Given the description of an element on the screen output the (x, y) to click on. 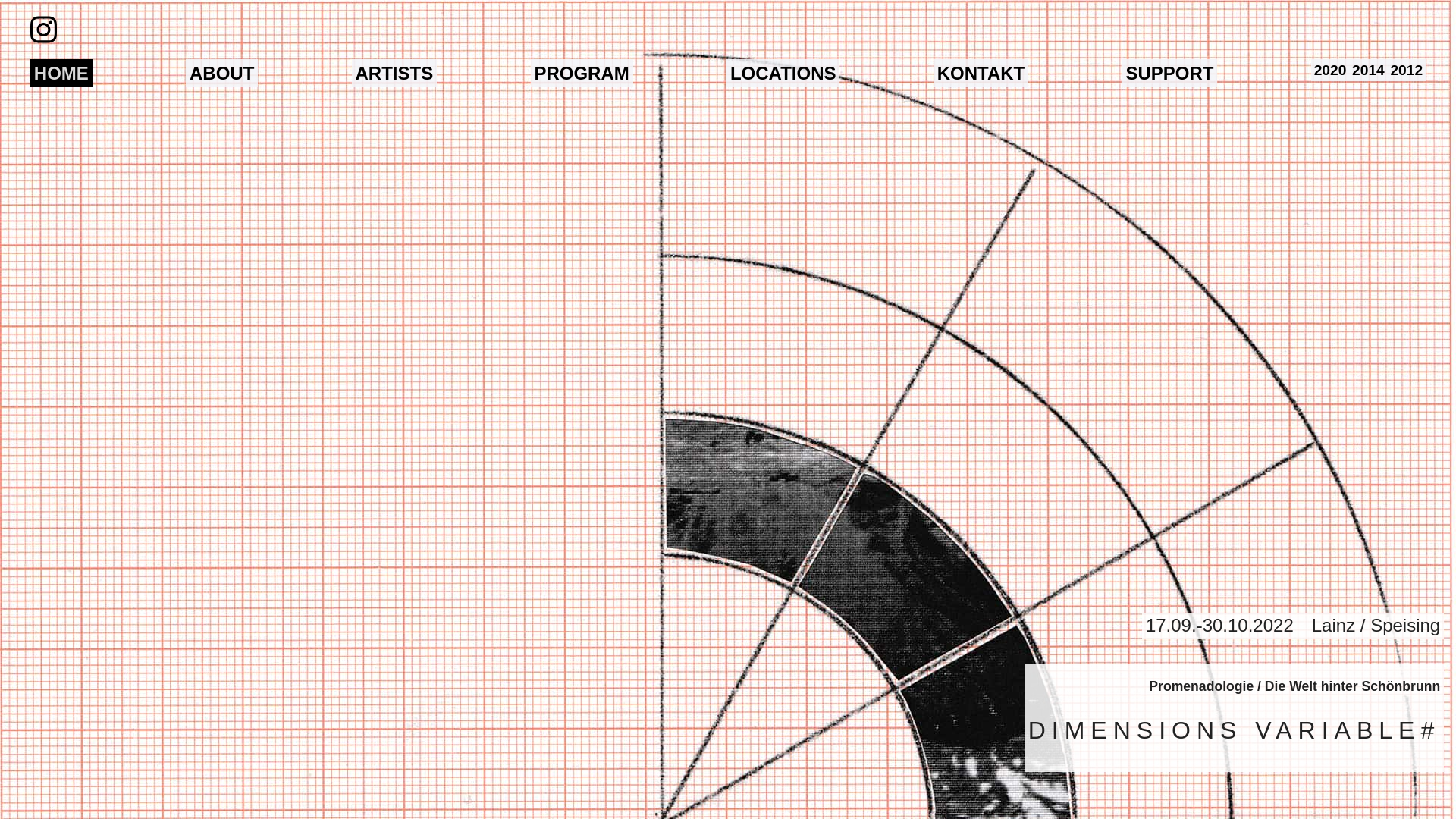
2020 Element type: text (1330, 70)
PROGRAM Element type: text (581, 73)
LOCATIONS Element type: text (782, 73)
SUPPORT Element type: text (1169, 73)
2014 Element type: text (1367, 70)
2012 Element type: text (1406, 70)
ARTISTS Element type: text (393, 73)
ABOUT Element type: text (221, 73)
KONTAKT Element type: text (980, 73)
Dimensions Variable# auf Instagram Element type: text (45, 29)
HOME Element type: text (61, 73)
